Given the description of an element on the screen output the (x, y) to click on. 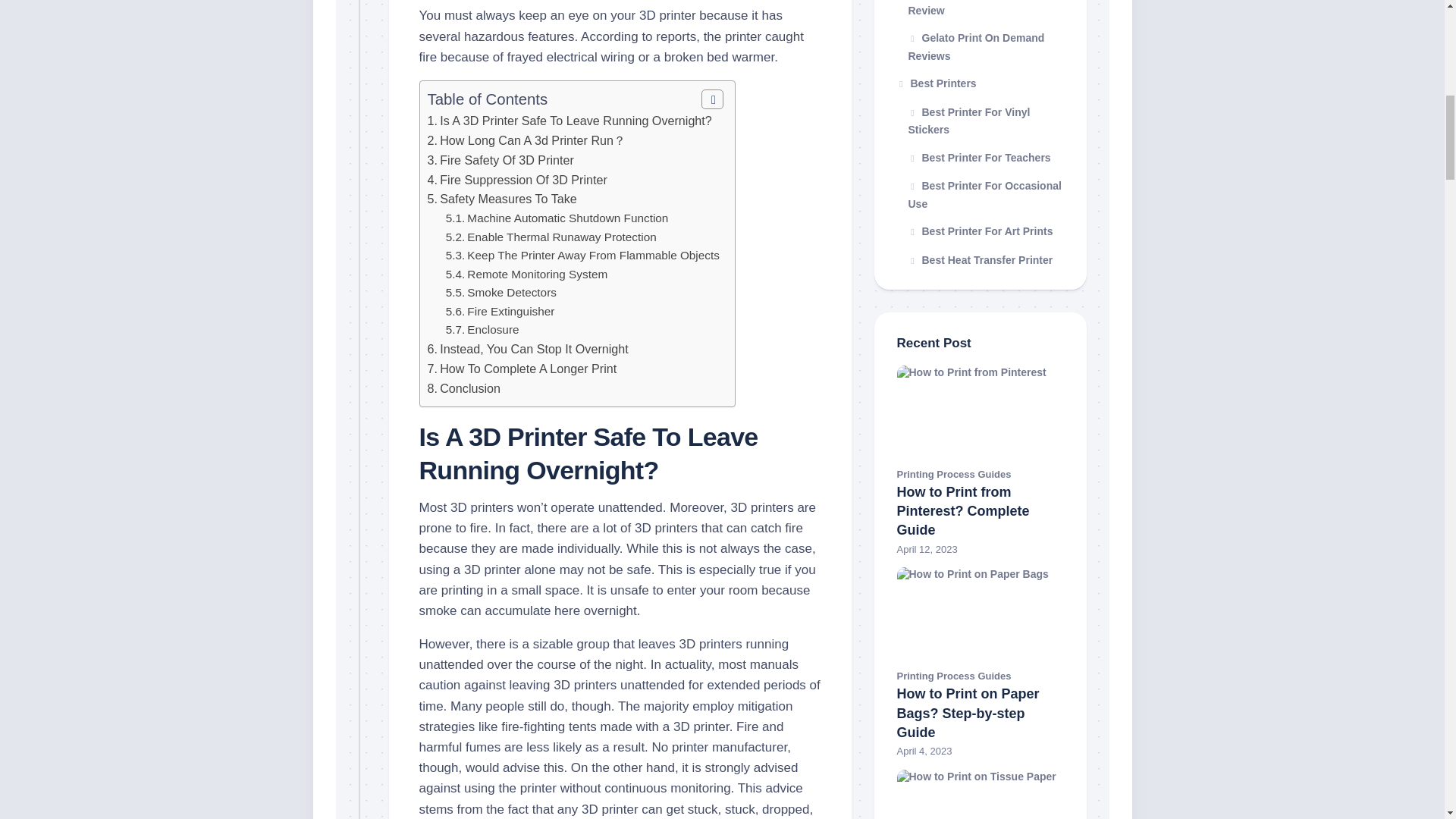
Keep The Printer Away From Flammable Objects (593, 254)
Conclusion (469, 387)
Enable Thermal Runaway Protection (561, 236)
How To Complete A Longer Print (527, 368)
Enclosure (492, 328)
Instead, You Can Stop It Overnight (533, 348)
Remote Monitoring System (537, 273)
Machine Automatic Shutdown Function (567, 217)
Fire Extinguisher (510, 310)
Smoke Detectors (511, 291)
Is A 3D Printer Safe To Leave Running Overnight? (575, 120)
